Given the description of an element on the screen output the (x, y) to click on. 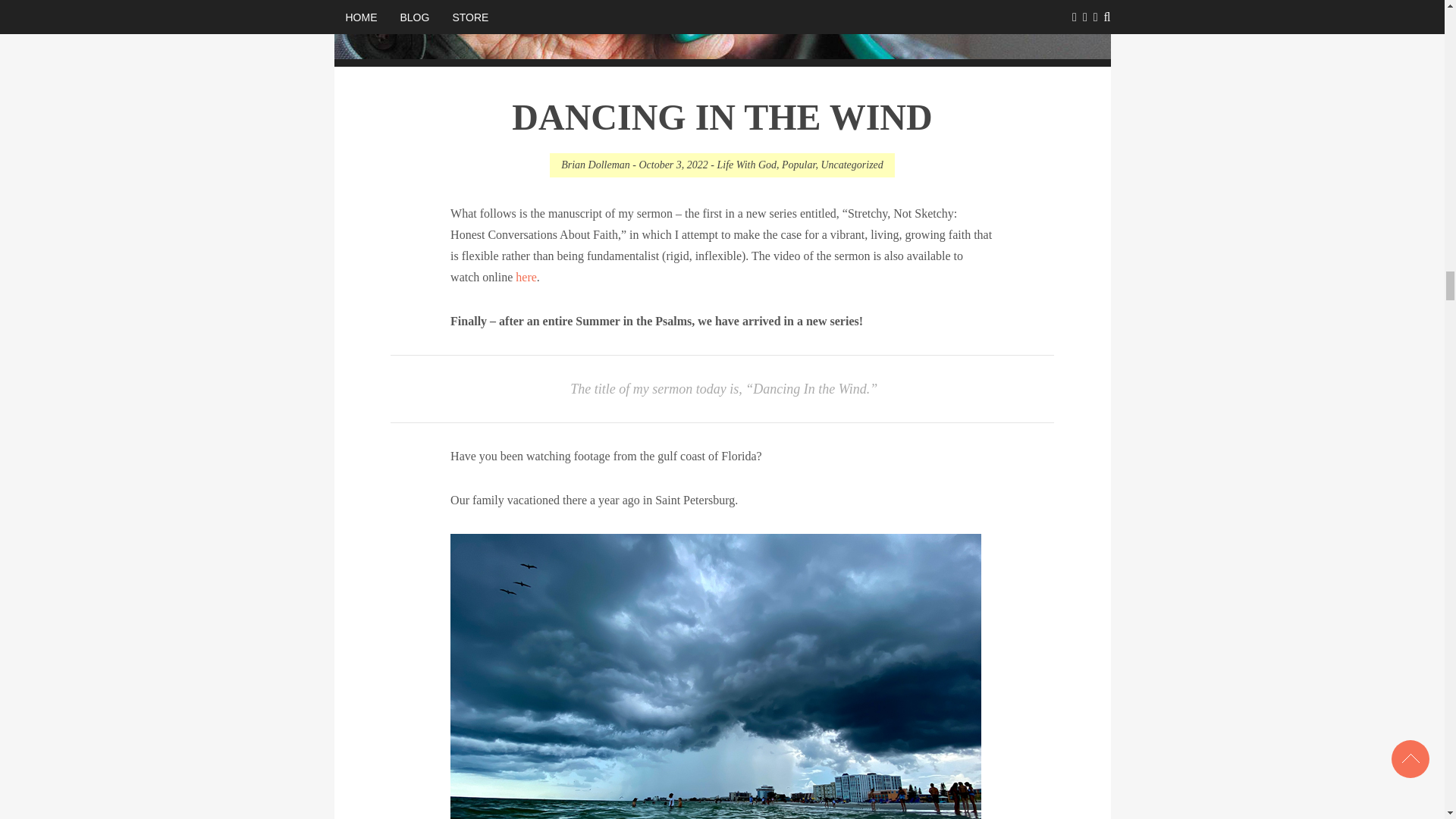
View all posts in Life With God (746, 164)
here (526, 276)
Posts by Brian Dolleman (595, 164)
DANCING IN THE WIND (721, 117)
Brian Dolleman (595, 164)
Popular (798, 164)
Life With God (746, 164)
Uncategorized (851, 164)
Dancing In The Wind (721, 117)
